Given the description of an element on the screen output the (x, y) to click on. 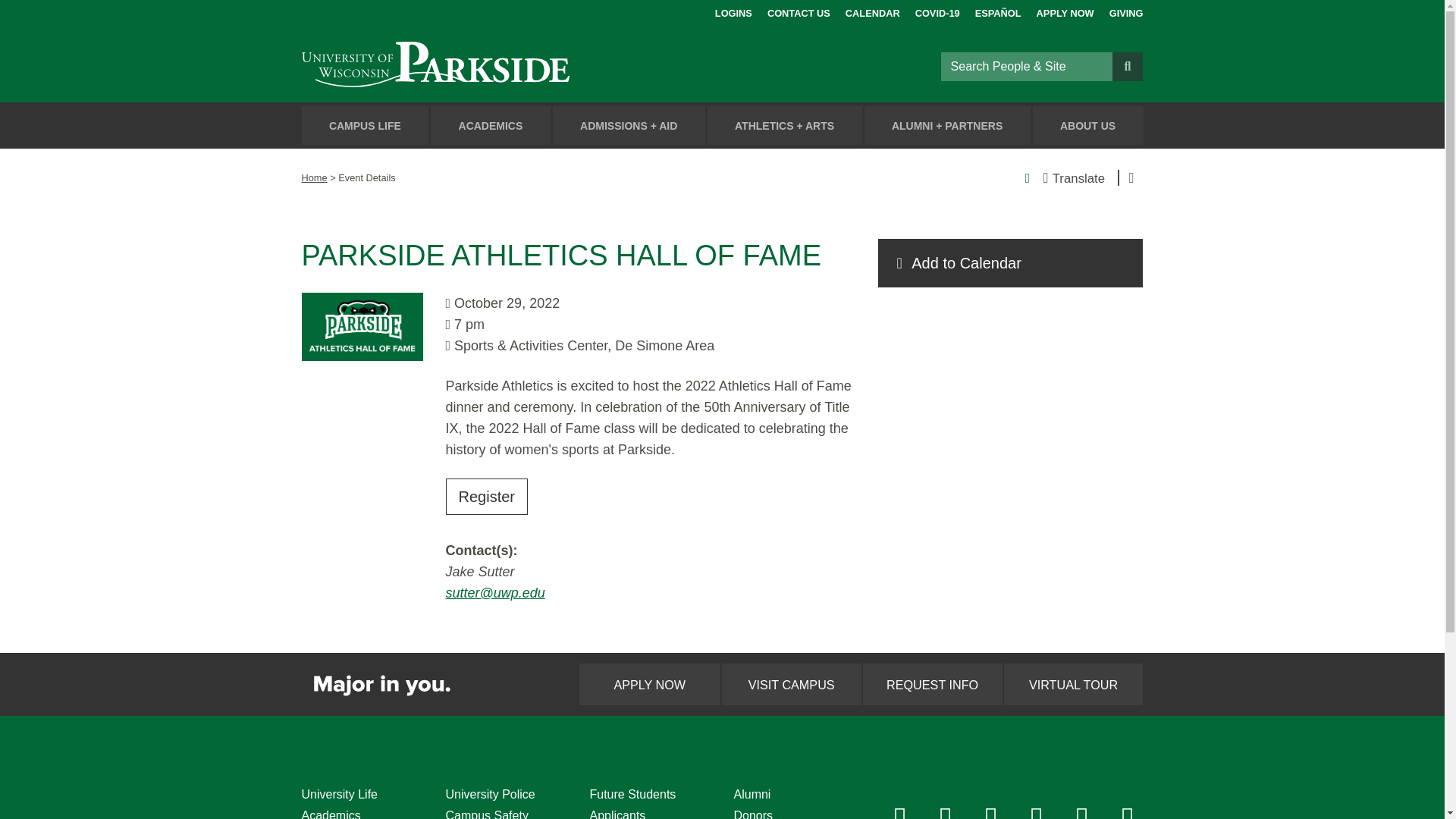
Skip to main content (18, 14)
Email Admissions (1128, 816)
Instagram (946, 816)
LinkedIn (1036, 816)
Download as .ics (1009, 263)
CONTACT US (798, 11)
X (991, 816)
COVID-19 (937, 11)
University of Wisconsin-Parkside (470, 66)
TikTok (1082, 816)
APPLY NOW (1065, 11)
LOGINS (733, 11)
Facebook (900, 816)
CAMPUS LIFE (365, 125)
GIVING (1125, 11)
